Given the description of an element on the screen output the (x, y) to click on. 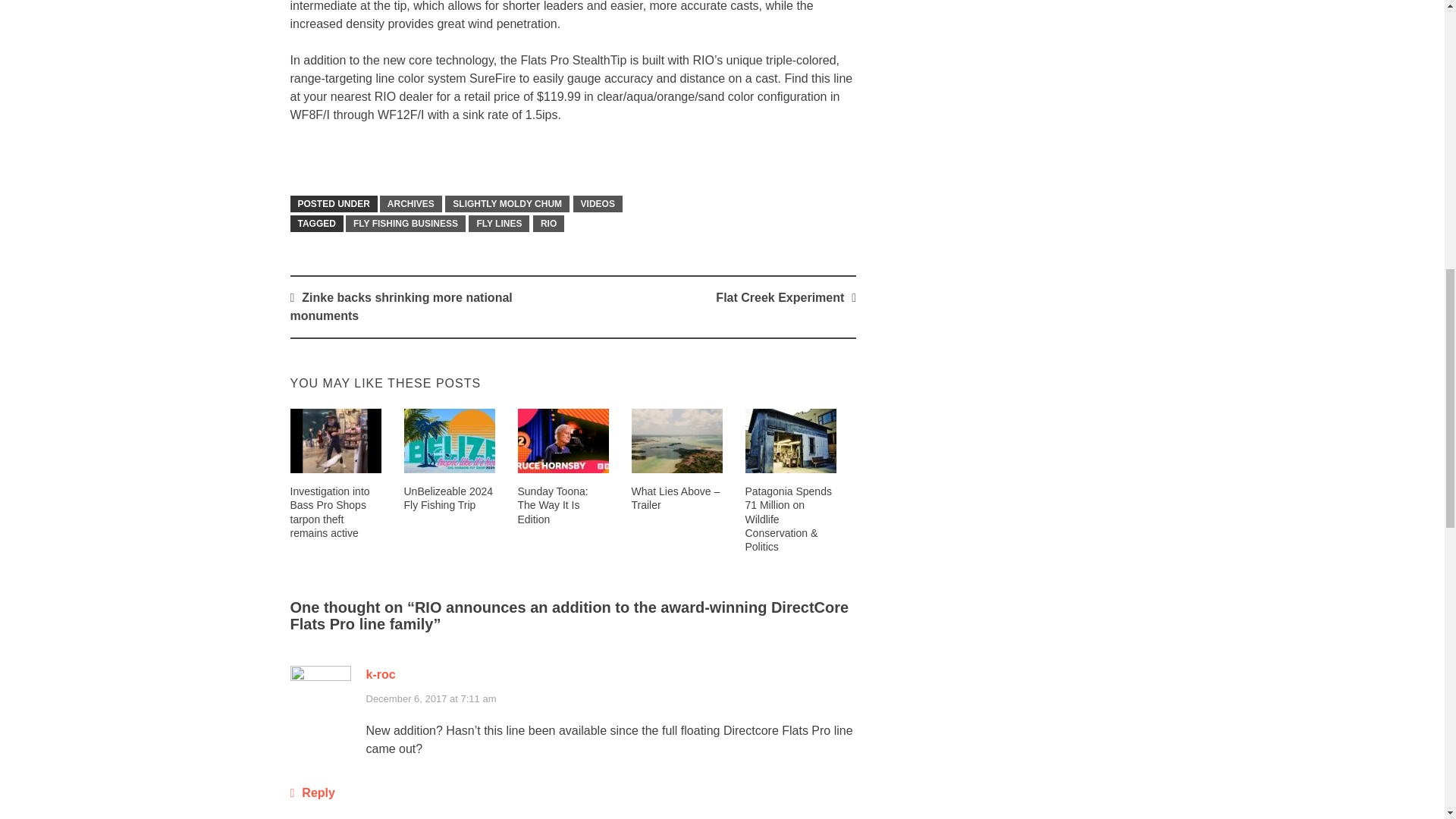
RIO (548, 223)
ARCHIVES (411, 203)
Sunday Toona: The Way It Is Edition (552, 504)
Zinke backs shrinking more national monuments (400, 306)
SLIGHTLY MOLDY CHUM (507, 203)
VIDEOS (598, 203)
FLY FISHING BUSINESS (405, 223)
Flat Creek Experiment (780, 297)
FLY LINES (498, 223)
